Given the description of an element on the screen output the (x, y) to click on. 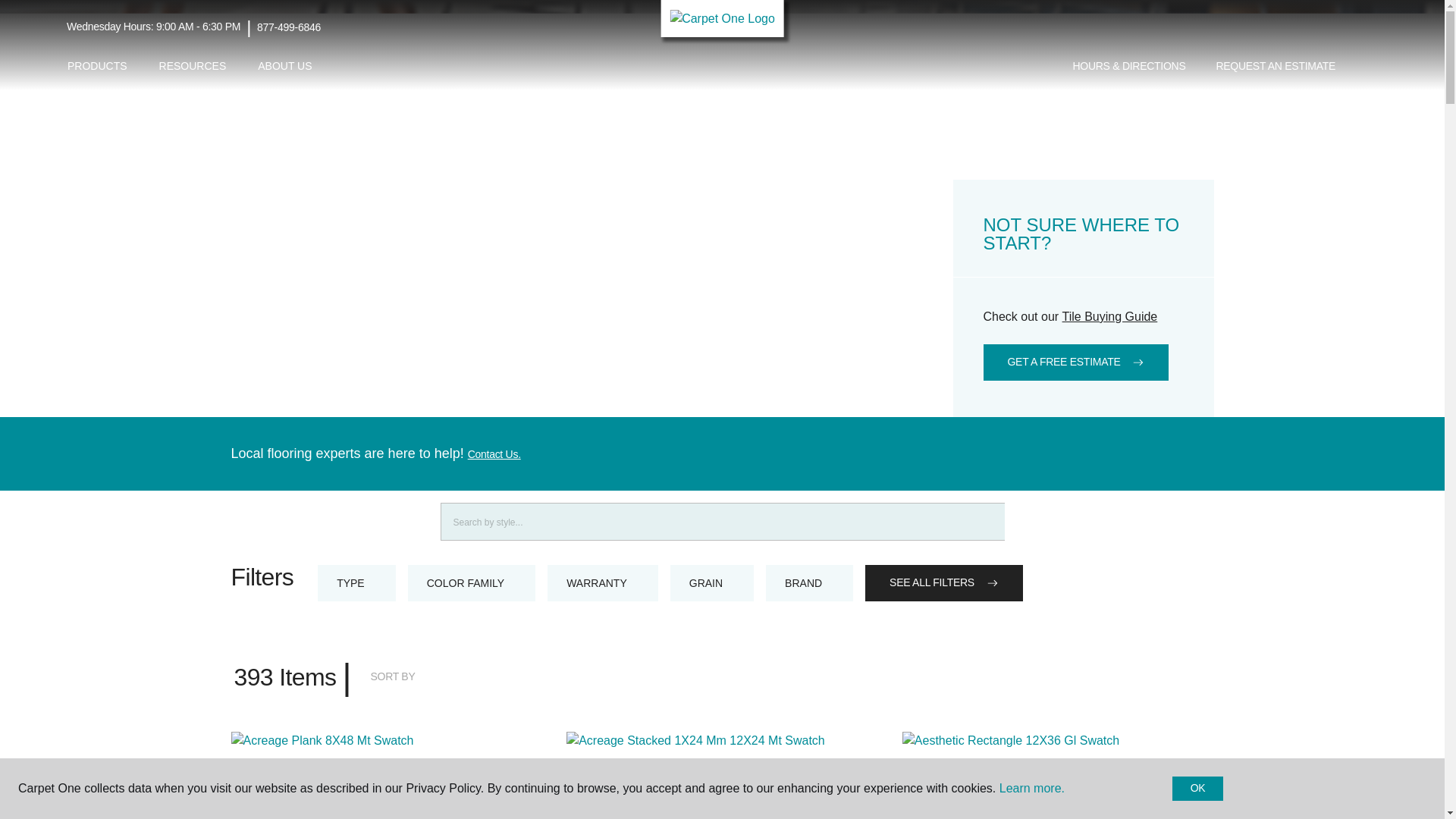
PRODUCTS (97, 66)
REQUEST AN ESTIMATE (1276, 66)
877-499-6846 (288, 27)
RESOURCES (193, 66)
ABOUT US (284, 66)
